Given the description of an element on the screen output the (x, y) to click on. 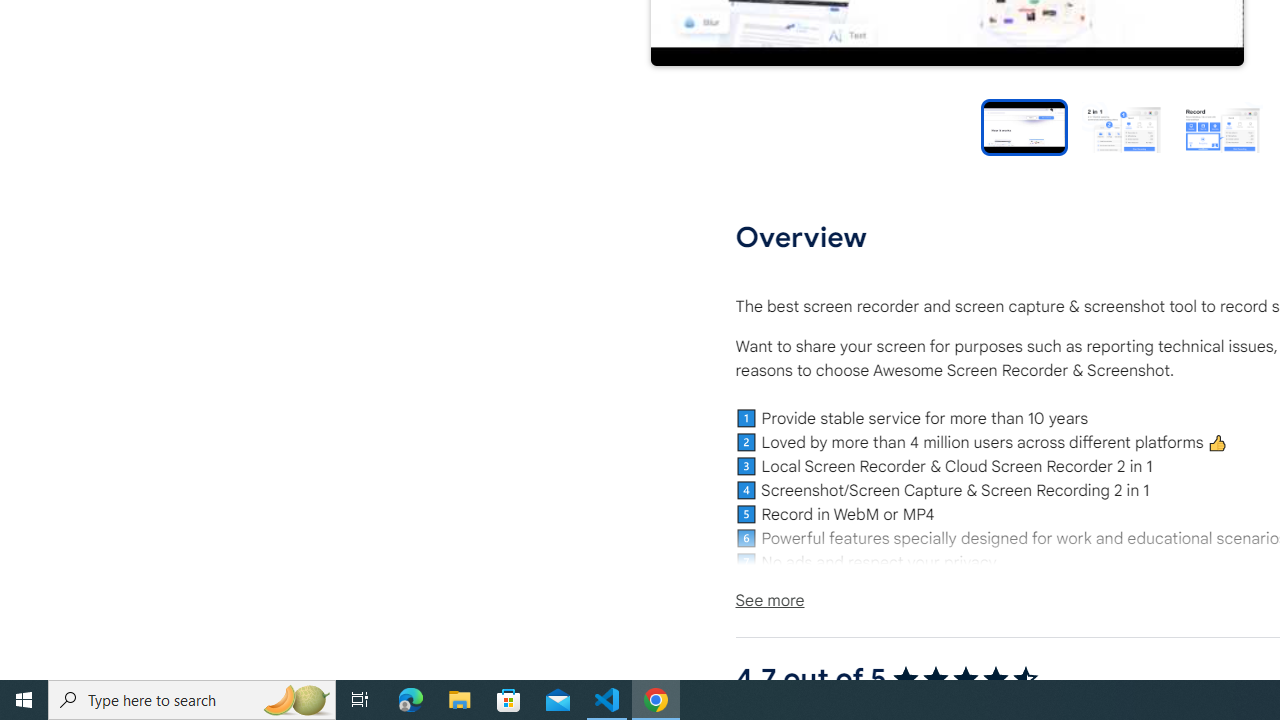
Preview slide 1 (1024, 126)
Microsoft Store (509, 699)
File Explorer (460, 699)
Task View (359, 699)
Preview slide 3 (1222, 126)
4.7 out of 5 stars (964, 678)
Search highlights icon opens search home window (295, 699)
Visual Studio Code - 1 running window (607, 699)
Type here to search (191, 699)
Item video thumbnail (1024, 126)
Google Chrome - 1 running window (656, 699)
Start (24, 699)
Microsoft Edge (411, 699)
Preview slide 2 (1122, 126)
